Given the description of an element on the screen output the (x, y) to click on. 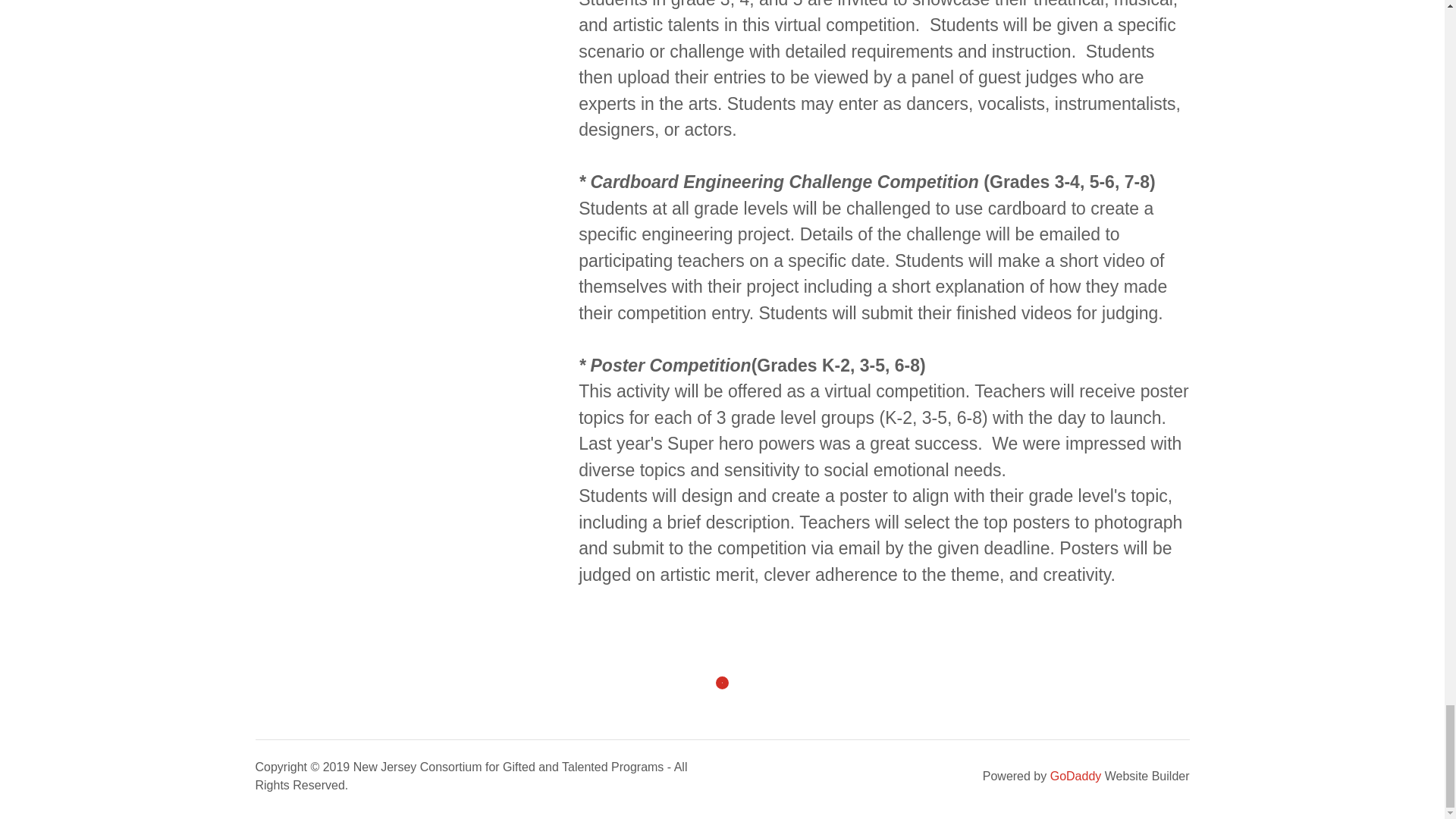
GoDaddy (1075, 775)
